Given the description of an element on the screen output the (x, y) to click on. 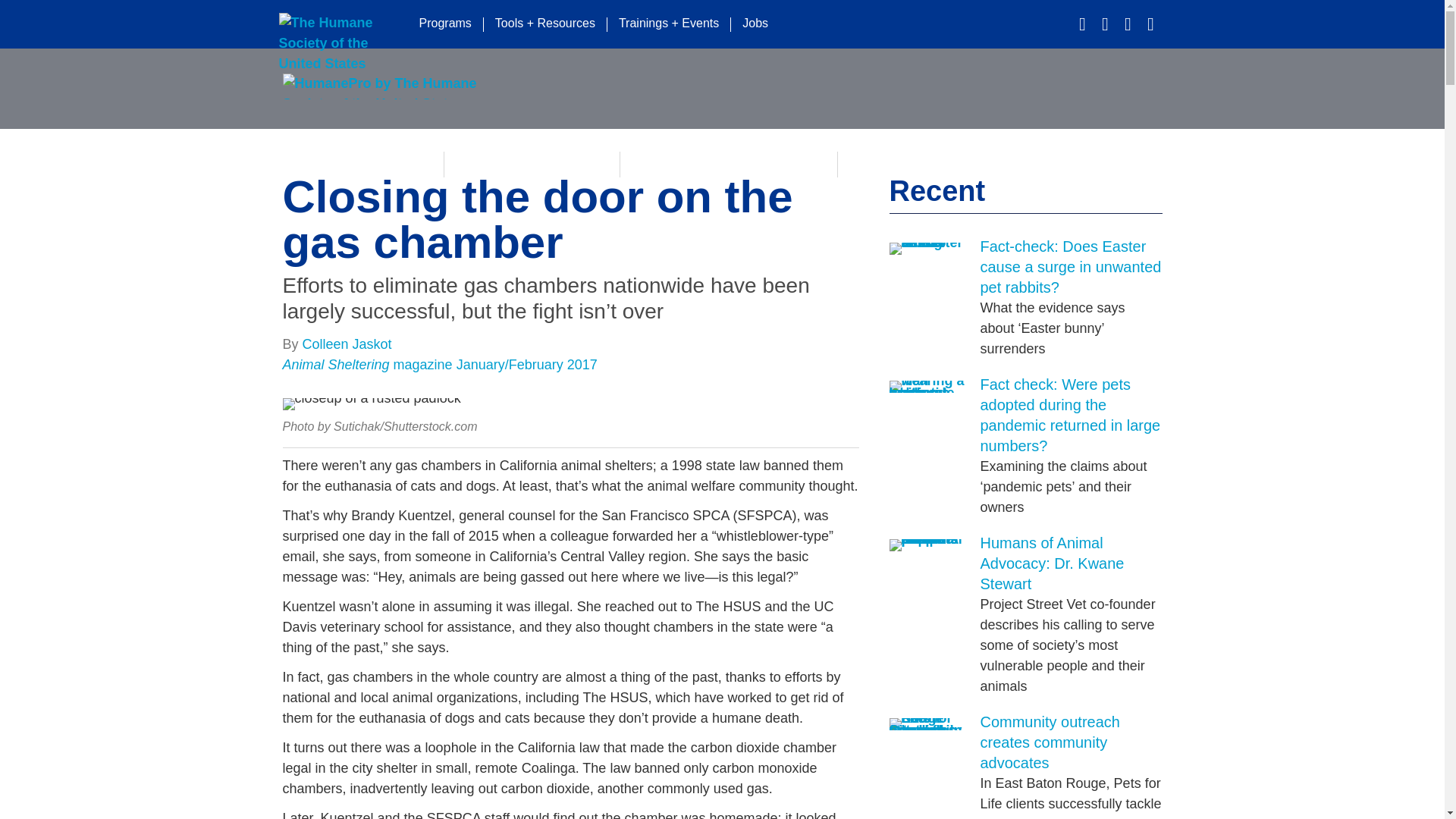
The Humane Society of the United States (338, 24)
Colleen Jaskot  (346, 344)
Programs (445, 23)
Resources by Species (532, 164)
Community Outreach (922, 164)
HumanePro by The Humane Society of the United States Home (380, 86)
